Given the description of an element on the screen output the (x, y) to click on. 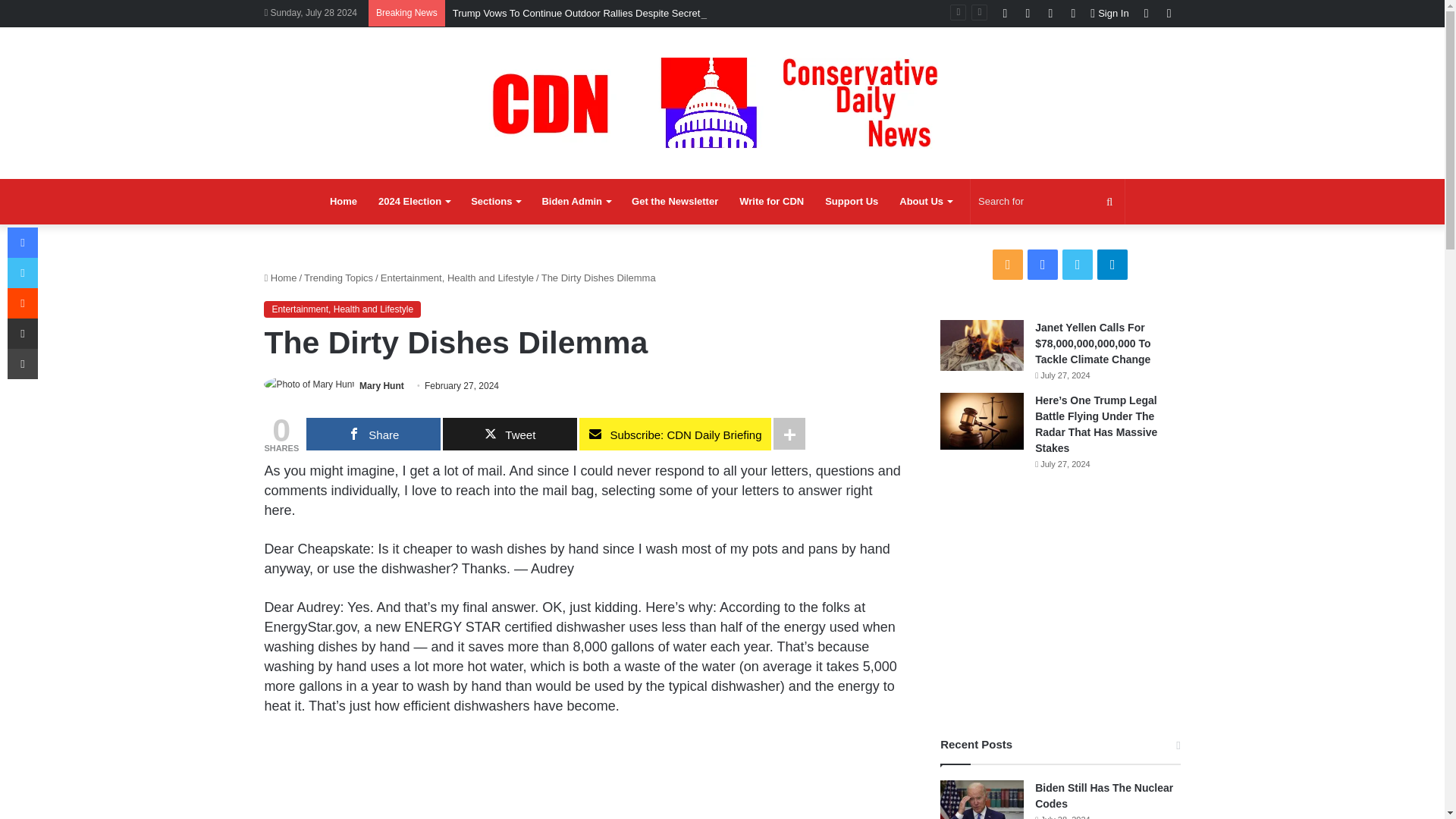
Twitter (1050, 13)
Random Article (1146, 13)
RSS (1004, 13)
2024 Election (414, 201)
Mary Hunt (381, 385)
Get the Newsletter (675, 201)
Support Us (850, 201)
Search for (1047, 201)
About Us (925, 201)
Write for CDN (771, 201)
Become a CDN Contributor (771, 201)
Conservative Daily News (721, 102)
Sidebar (1168, 13)
Random Article (1146, 13)
Biden Admin (576, 201)
